Given the description of an element on the screen output the (x, y) to click on. 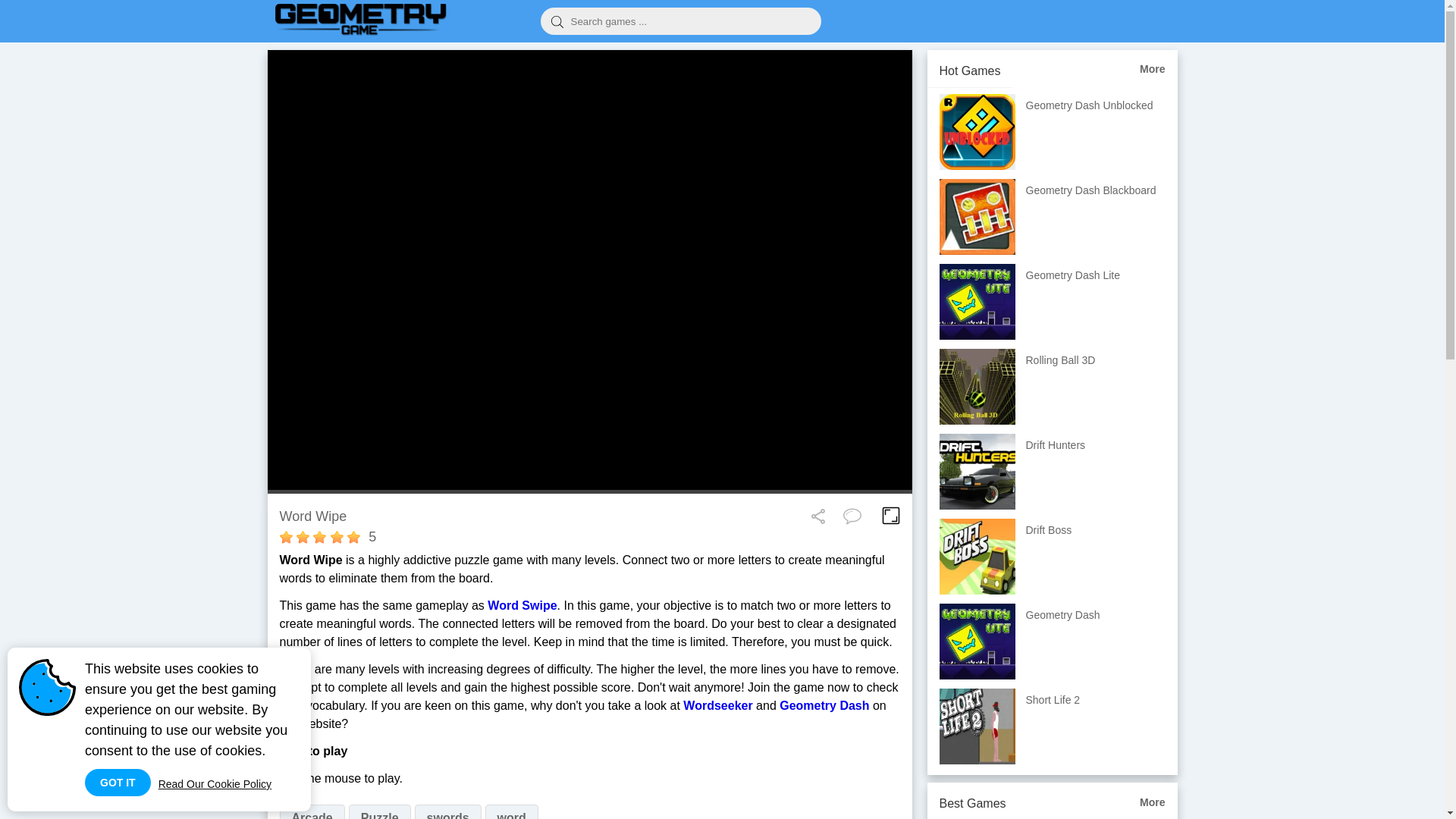
good (336, 537)
regular (319, 537)
Arcade (311, 811)
bad (285, 537)
word (511, 811)
poor (303, 537)
word (511, 811)
Puzzle (379, 811)
swords (447, 811)
Arcade (311, 811)
Puzzle (379, 811)
Geometry Dash (823, 705)
swords (447, 811)
Wordseeker (717, 705)
Word Swipe (521, 604)
